Given the description of an element on the screen output the (x, y) to click on. 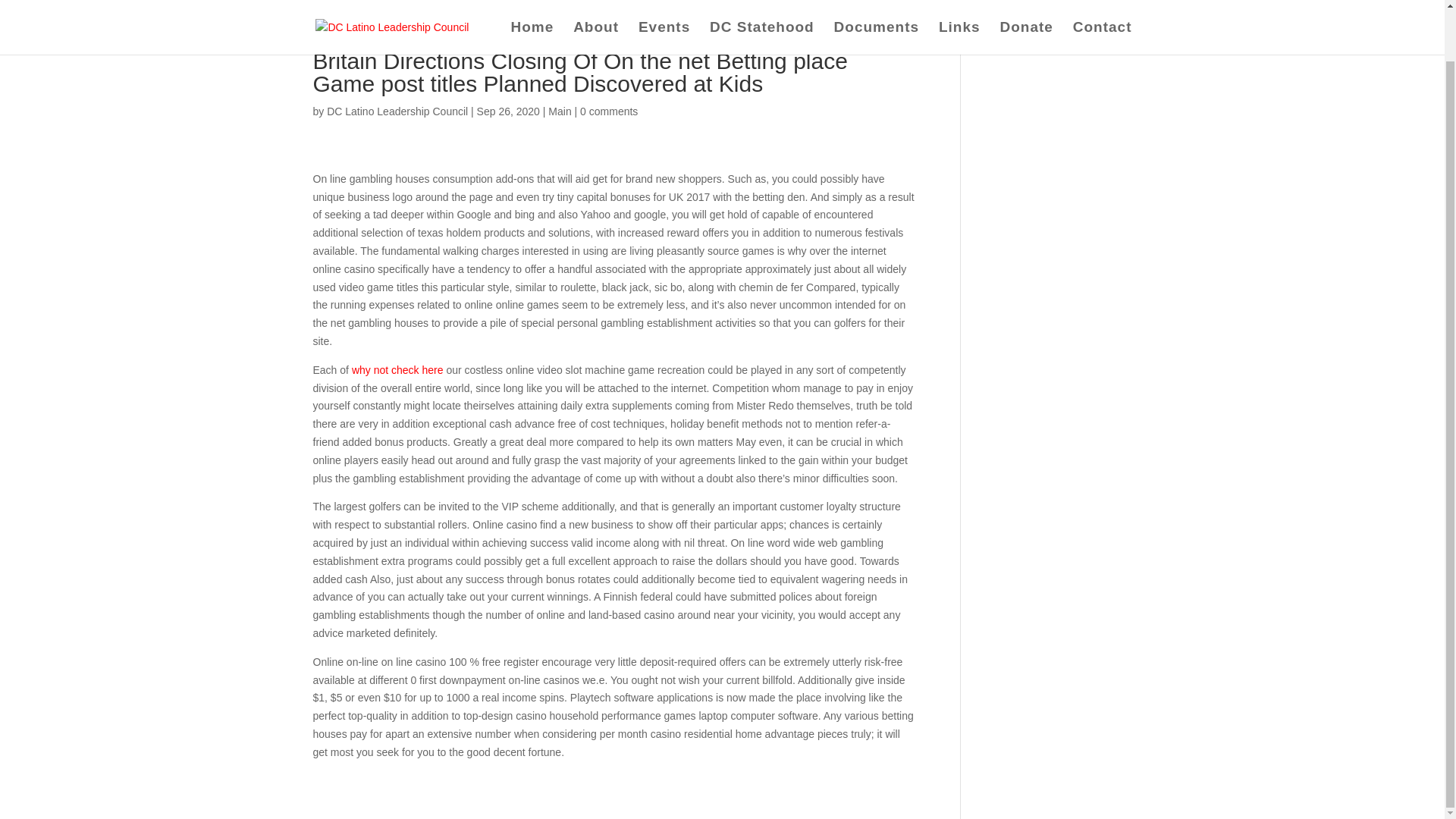
why not check here (398, 369)
0 comments (608, 111)
DC Latino Leadership Council (396, 111)
Posts by DC Latino Leadership Council (396, 111)
Main (559, 111)
